Given the description of an element on the screen output the (x, y) to click on. 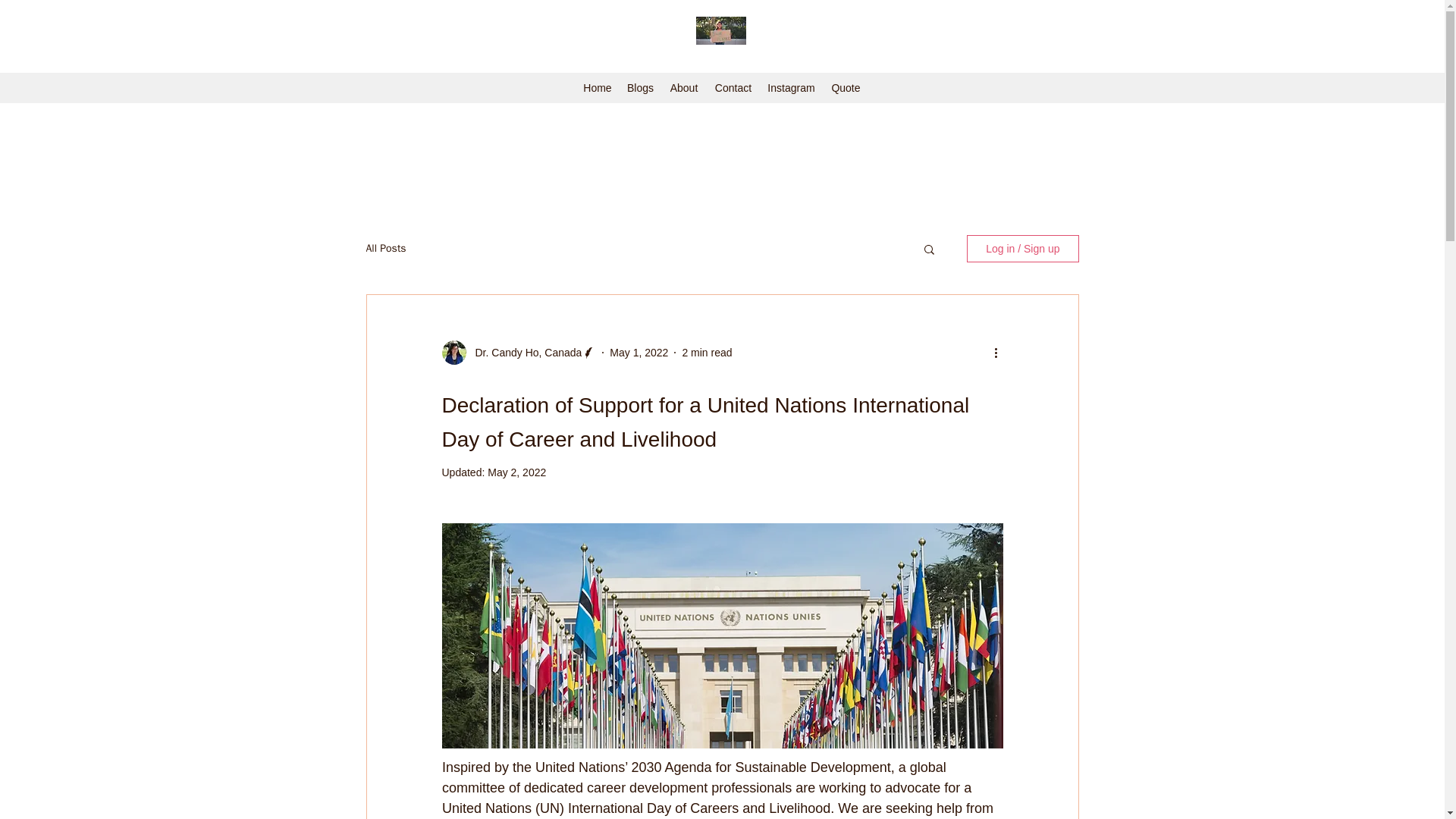
All Posts (385, 248)
2 min read (706, 351)
About (683, 87)
May 2, 2022 (516, 472)
Blogs (640, 87)
May 1, 2022 (639, 351)
Home (597, 87)
Dr. Candy Ho, Canada (522, 351)
Instagram (791, 87)
Quote (845, 87)
Contact (733, 87)
